Given the description of an element on the screen output the (x, y) to click on. 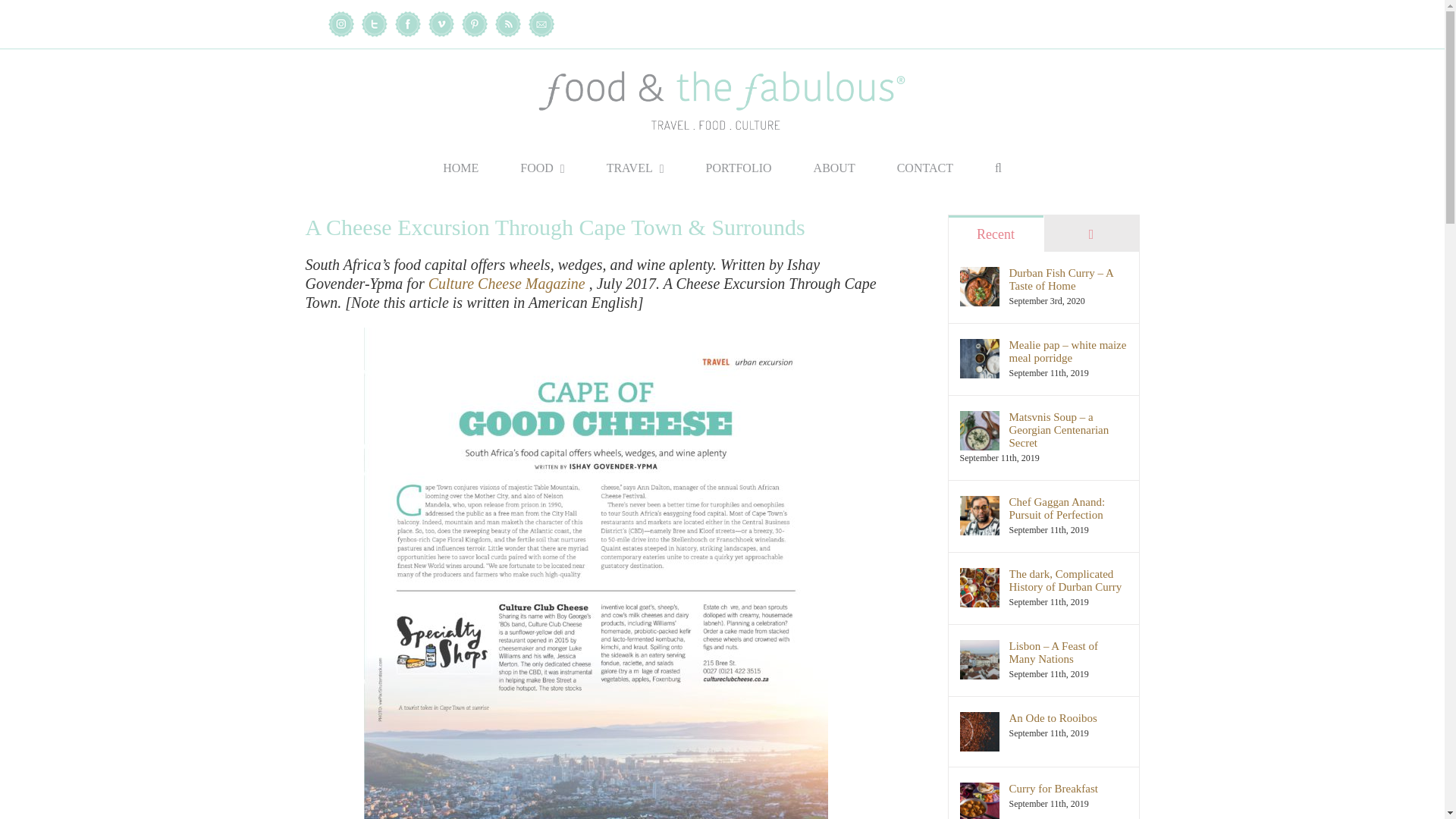
Instagram (340, 23)
Instagram (340, 23)
Facebook (407, 23)
Twitter (374, 23)
HOME (460, 168)
RSS Feed (507, 23)
Vimeo (440, 23)
Vimeo (440, 23)
Facebook (407, 23)
Email (540, 23)
FOOD (541, 168)
ABOUT (834, 168)
RSS Feed (507, 23)
CONTACT (924, 168)
Pinterest (473, 23)
